Given the description of an element on the screen output the (x, y) to click on. 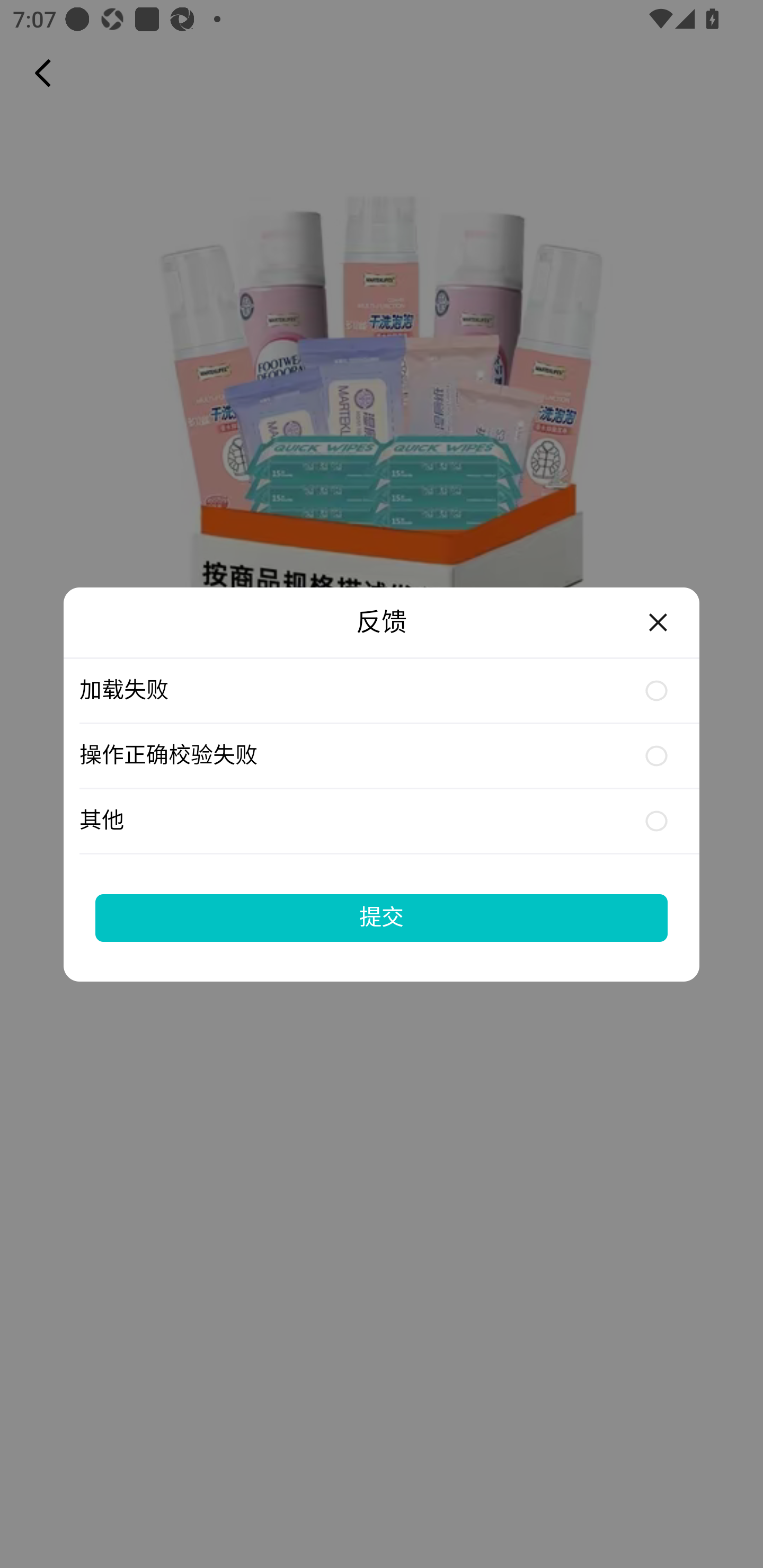
提交 (381, 917)
